Given the description of an element on the screen output the (x, y) to click on. 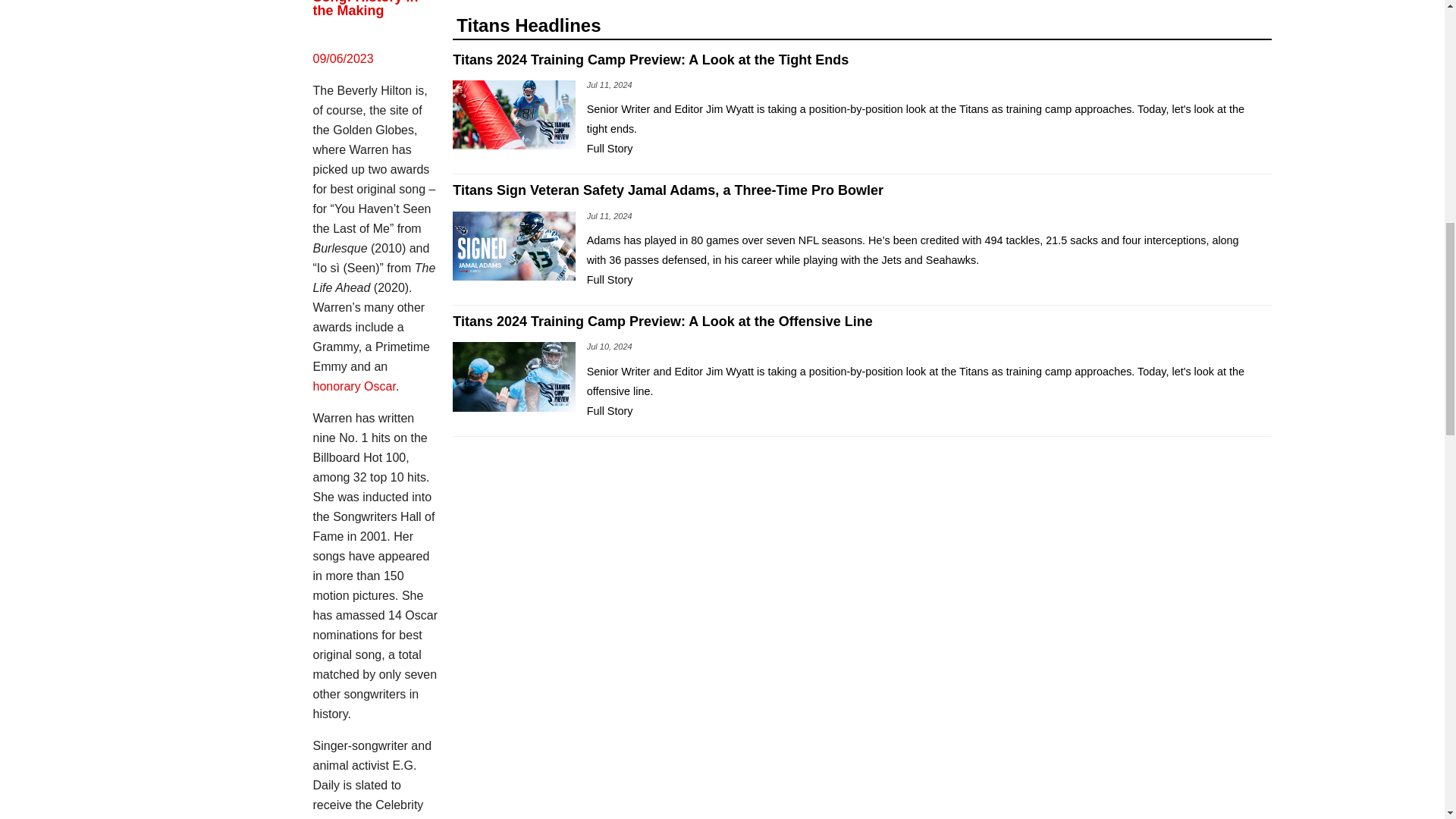
honorary Oscar (353, 386)
